Given the description of an element on the screen output the (x, y) to click on. 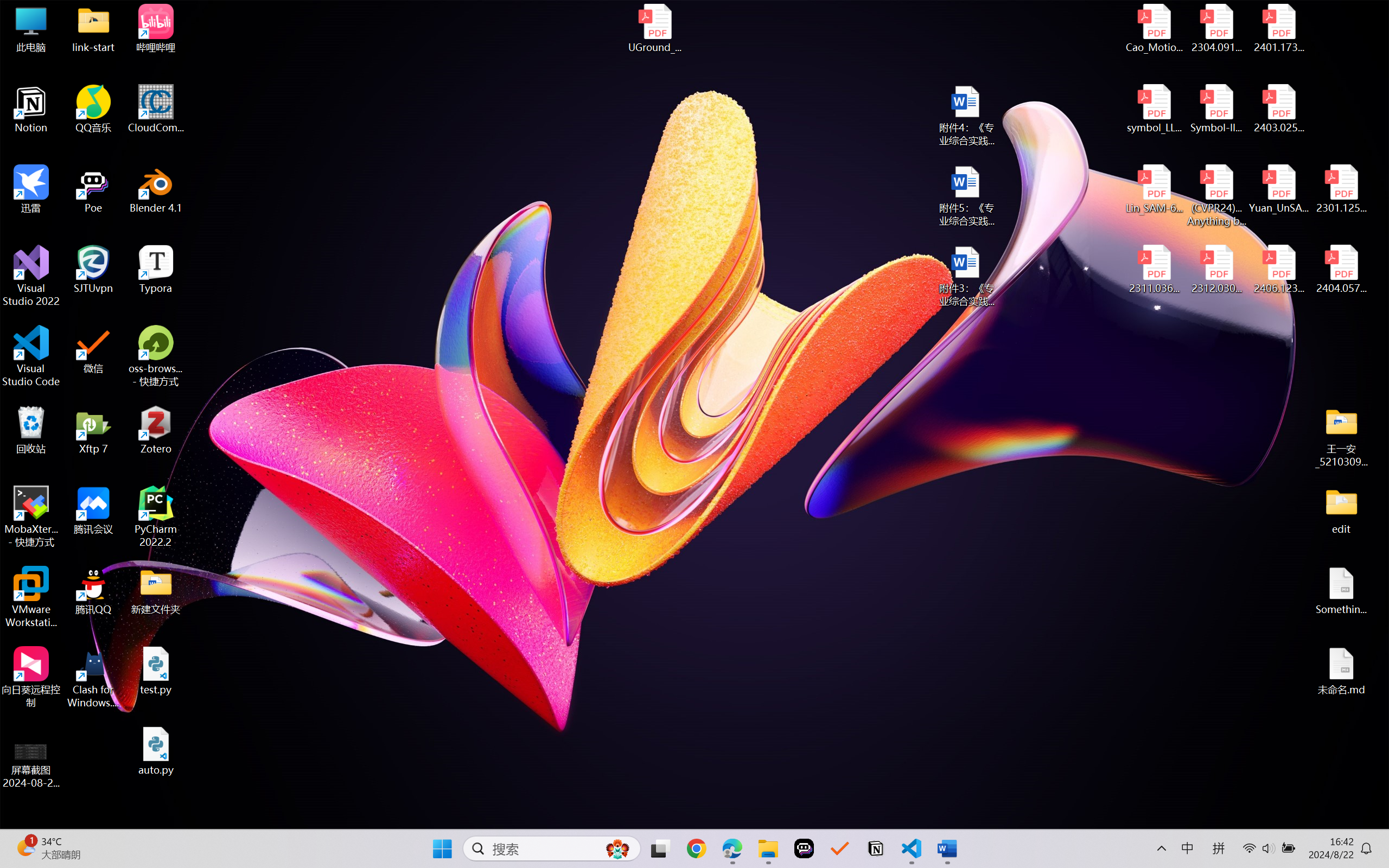
SJTUvpn (93, 269)
VMware Workstation Pro (31, 597)
2301.12597v3.pdf (1340, 189)
